Given the description of an element on the screen output the (x, y) to click on. 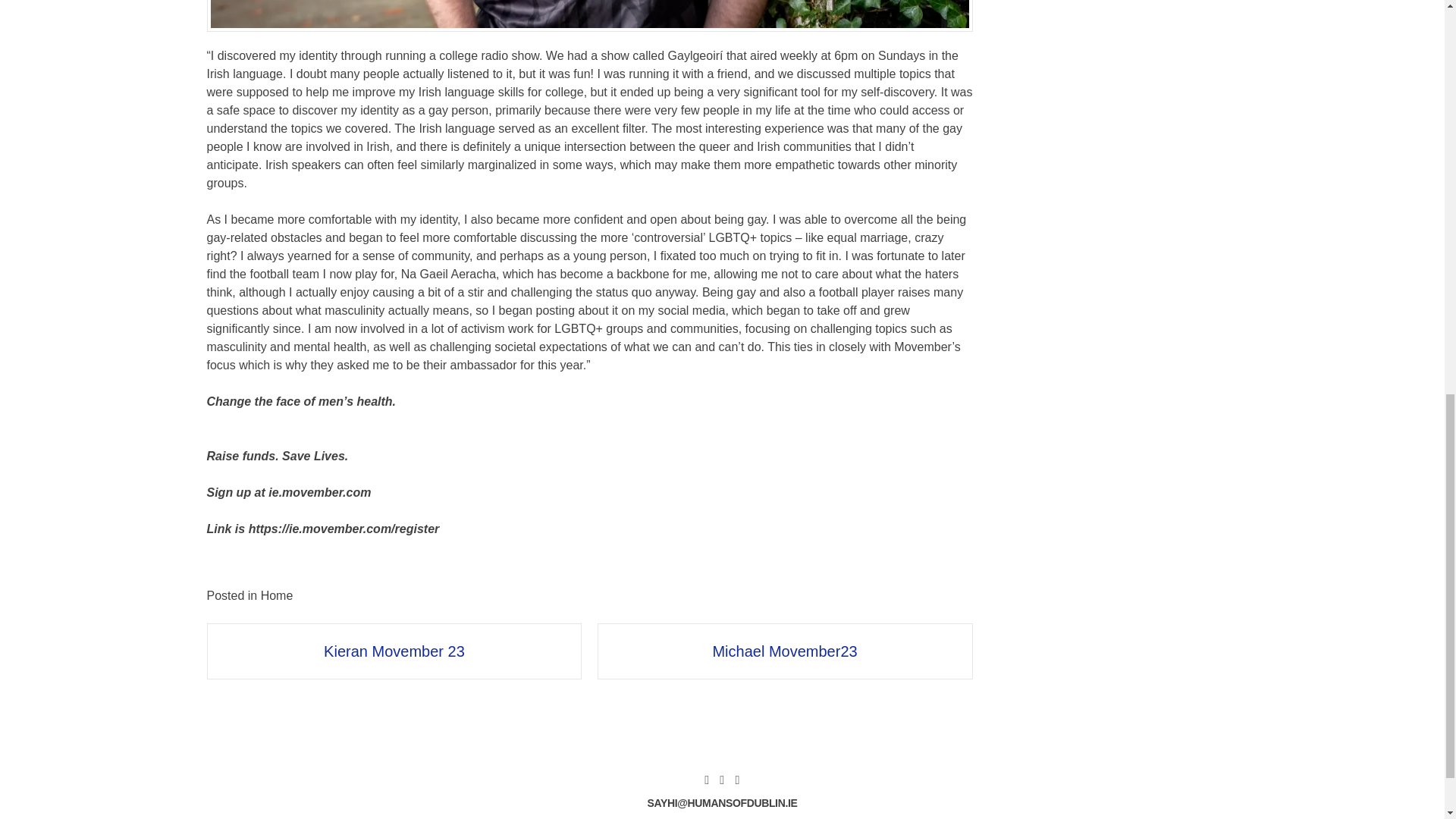
Home (277, 594)
Kieran Movember 23 (393, 651)
Michael Movember23 (784, 651)
ie.movember.com (319, 492)
